Given the description of an element on the screen output the (x, y) to click on. 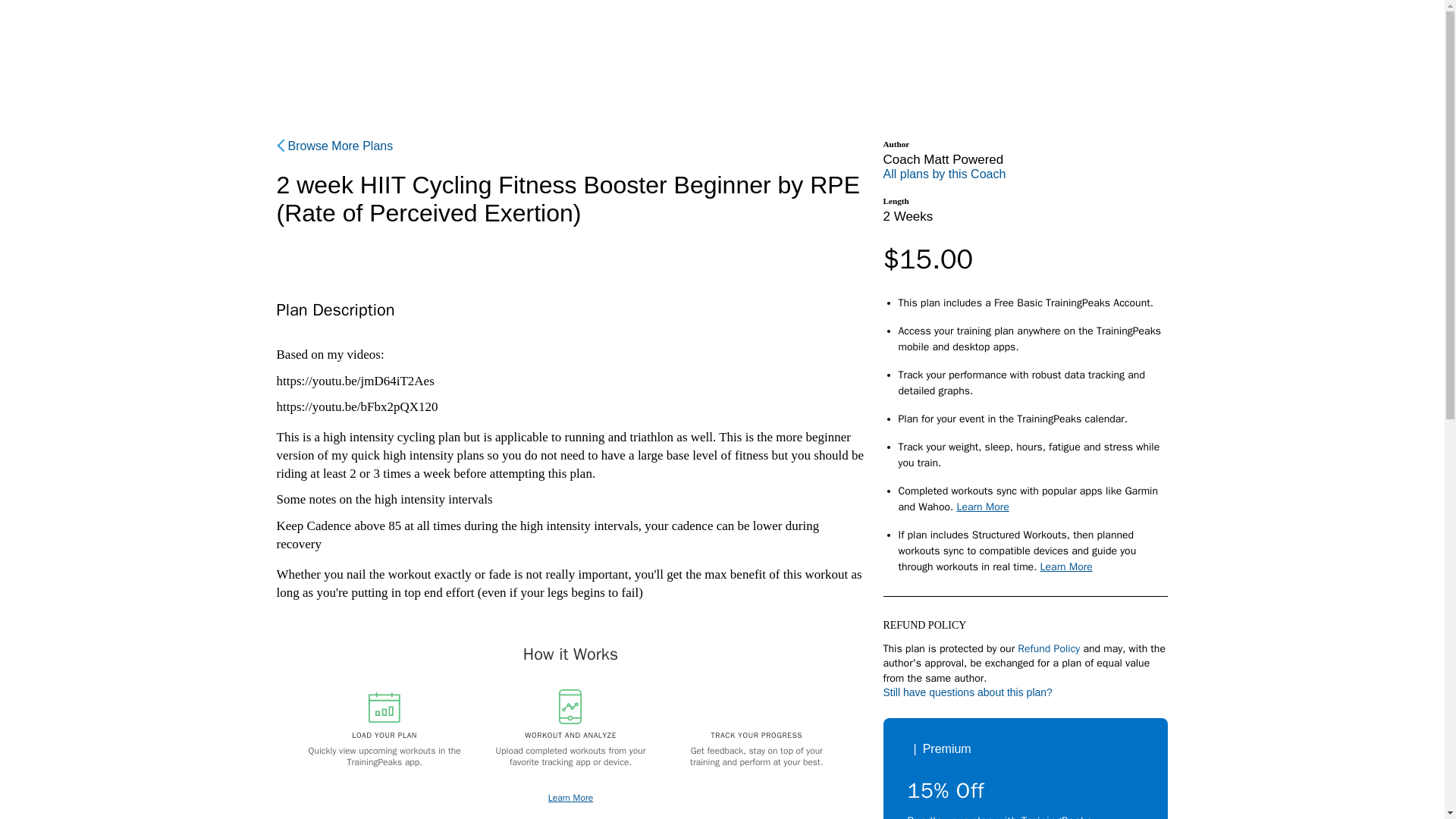
All plans by this Coach (944, 173)
Learn More (570, 797)
Learn More (982, 506)
Refund Policy (1048, 648)
Still have questions about this plan? (966, 692)
Learn More (1067, 566)
Browse More Plans (334, 145)
